Given the description of an element on the screen output the (x, y) to click on. 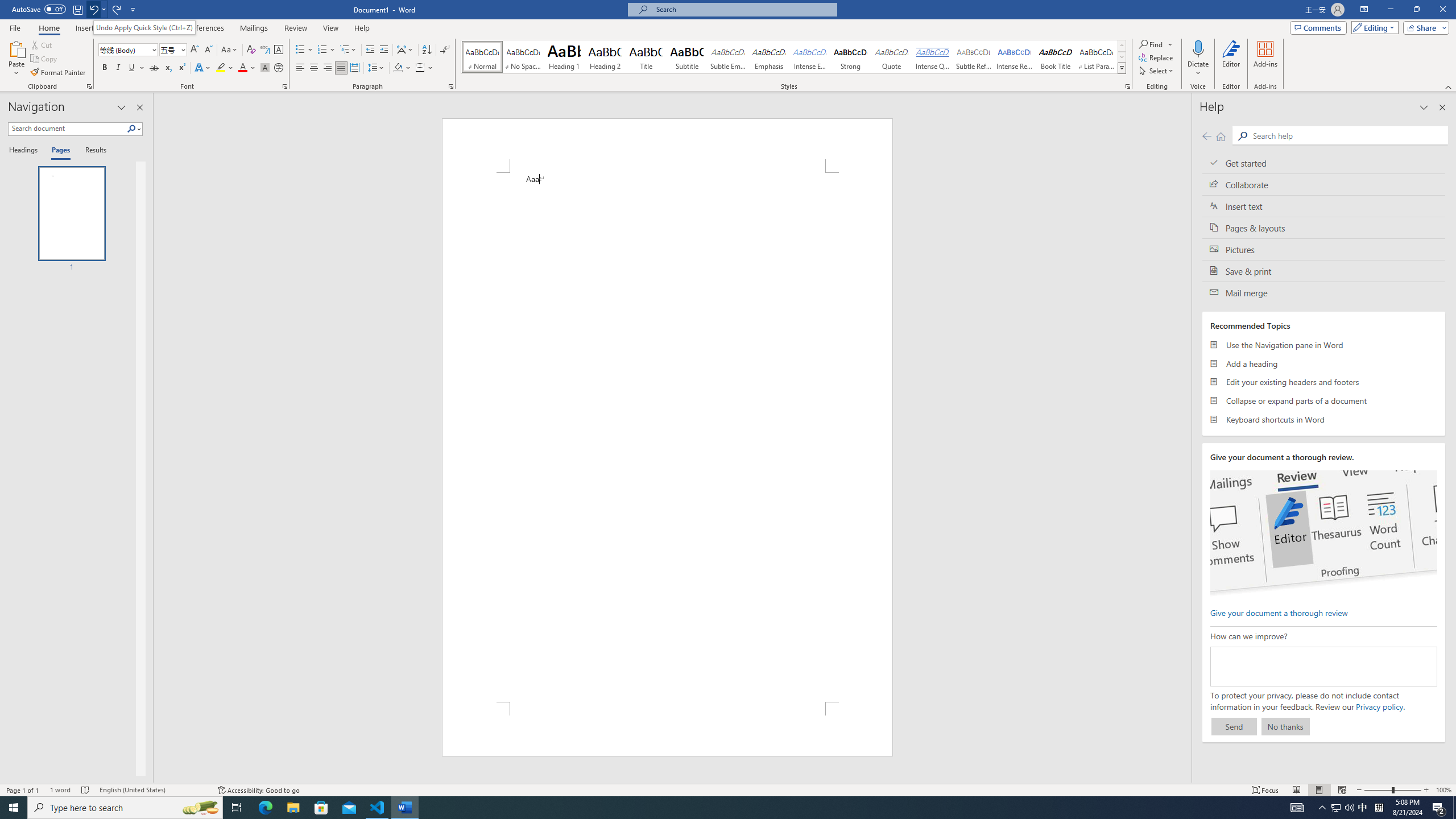
Undo Apply Quick Style (92, 9)
No thanks (1285, 726)
